Given the description of an element on the screen output the (x, y) to click on. 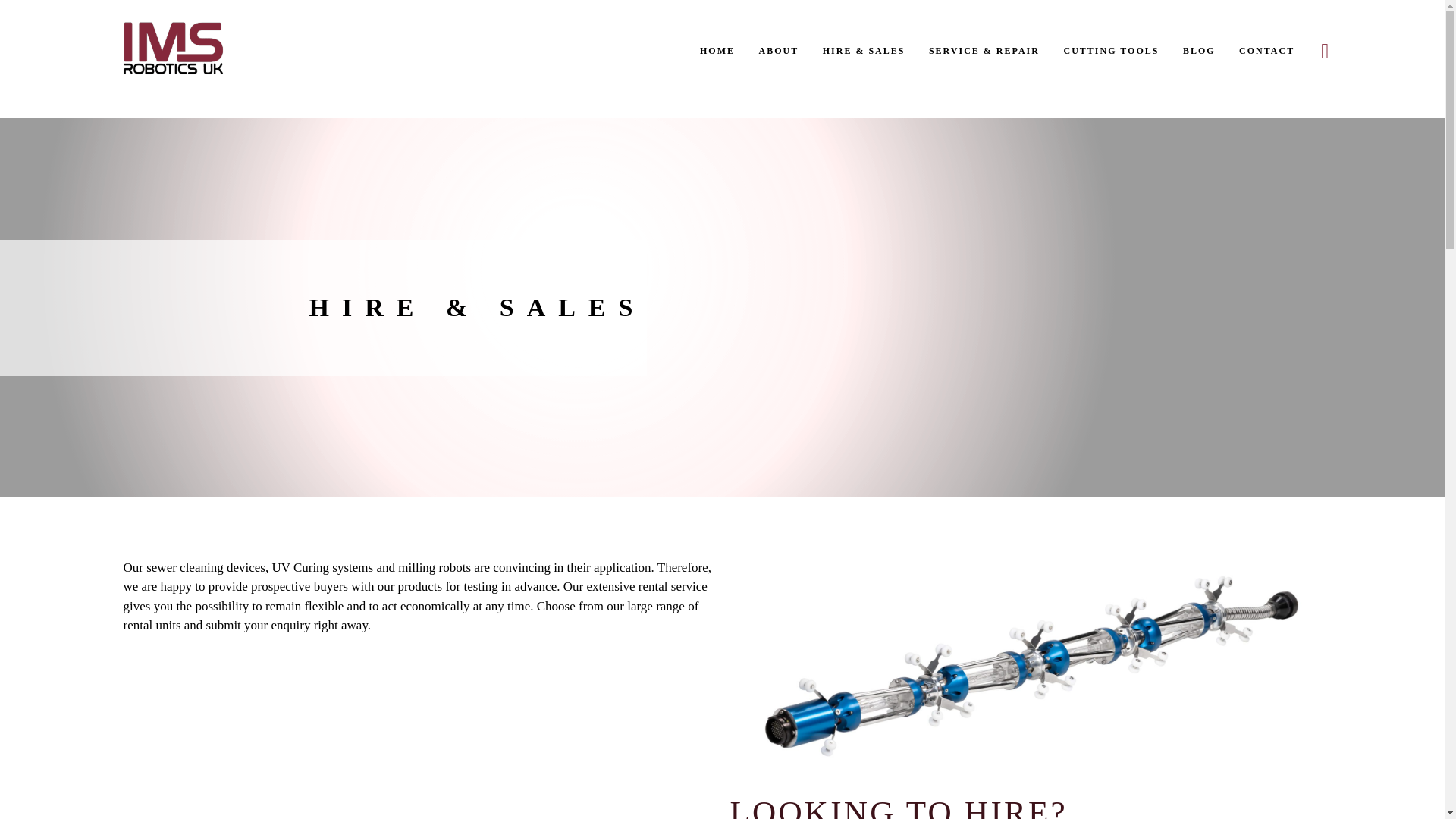
CUTTING TOOLS (1110, 50)
IMS Robotics UK (183, 85)
IMS Robotics UK (173, 48)
CONTACT (1260, 50)
ABOUT (778, 50)
IMS Robotics UK (183, 85)
BLOG (1198, 50)
HOME (723, 50)
